Given the description of an element on the screen output the (x, y) to click on. 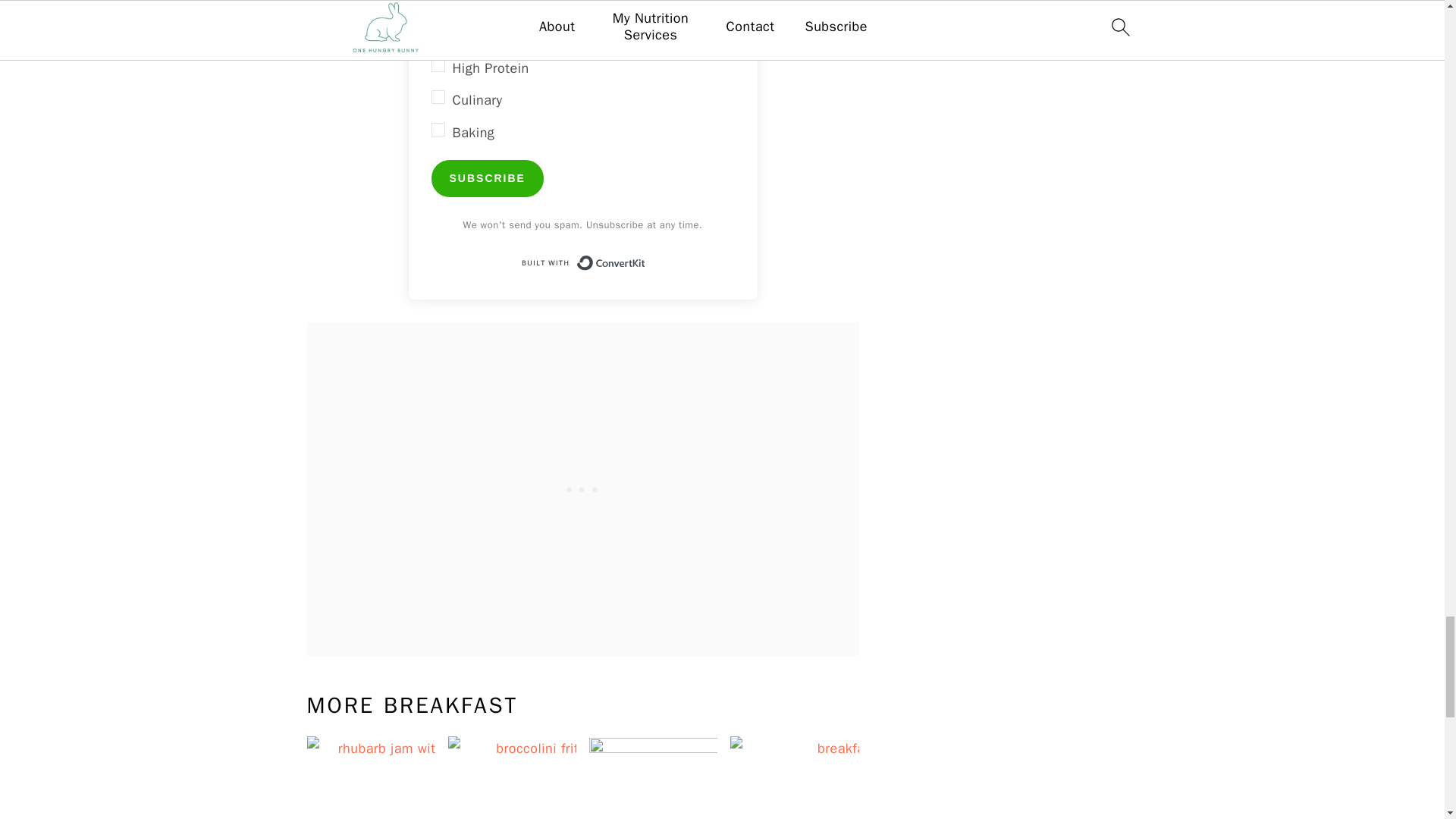
Rhubarb Jam Recipe with Strawberries and Chia Seeds (442, 777)
Meyer Lemon Curd (725, 777)
SUBSCRIBE (486, 178)
Broccolini Frittata with Mushrooms and Feta (584, 777)
Built with ConvertKit (582, 262)
Breakfast Polenta Recipe: Two Ways (866, 777)
